Given the description of an element on the screen output the (x, y) to click on. 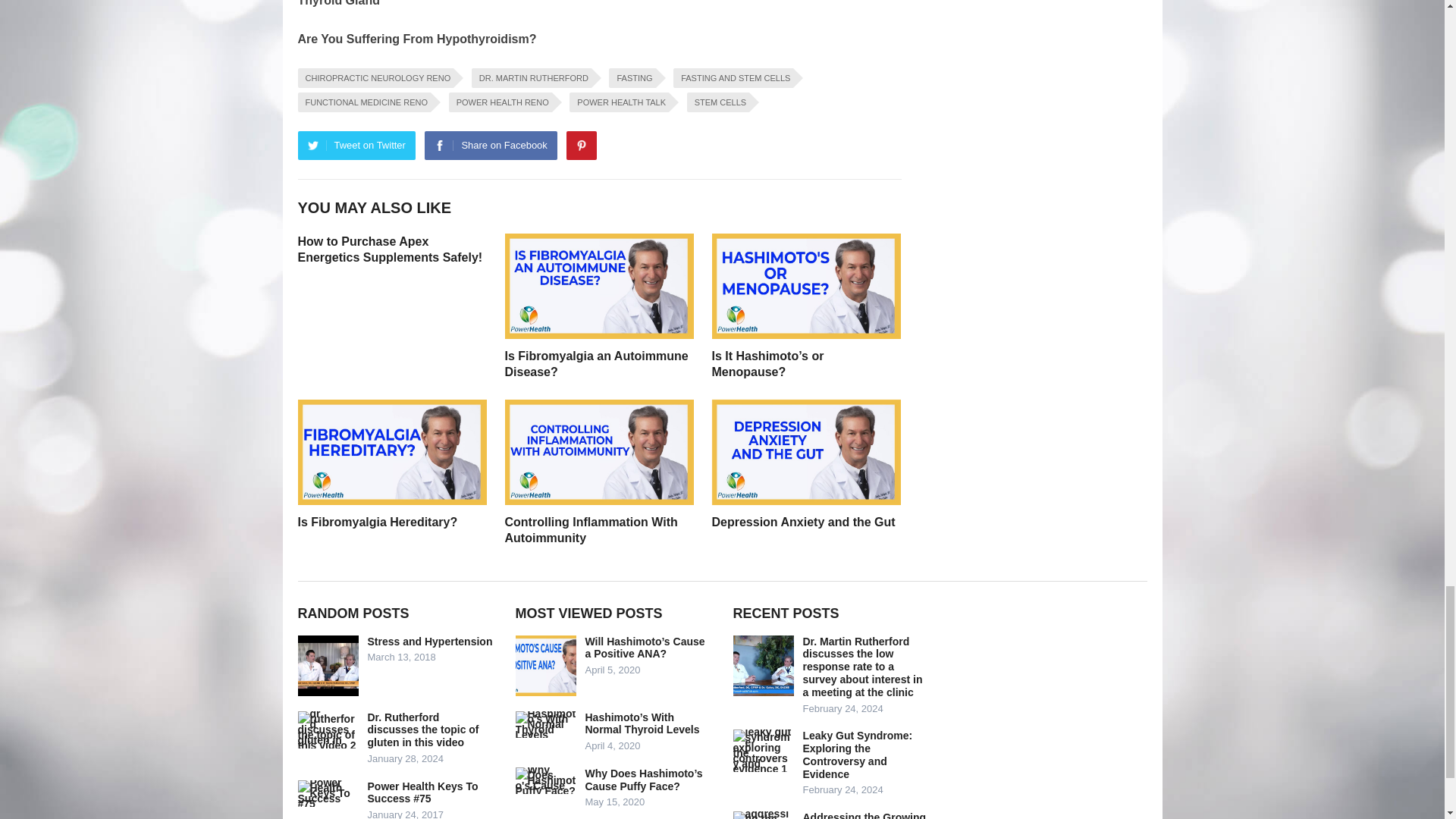
FASTING AND STEM CELLS (732, 77)
Is Fibromyalgia an Autoimmune Disease? 2 (599, 286)
Depression Anxiety and the Gut 10 (805, 452)
FASTING (631, 77)
Is Fibromyalgia Hereditary? 6 (391, 452)
DR. MARTIN RUTHERFORD (531, 77)
POWER HEALTH RENO (499, 102)
Is It Hashimoto's or Menopause? 4 (805, 286)
Controlling Inflammation With Autoimmunity 8 (599, 452)
CHIROPRACTIC NEUROLOGY RENO (374, 77)
